Given the description of an element on the screen output the (x, y) to click on. 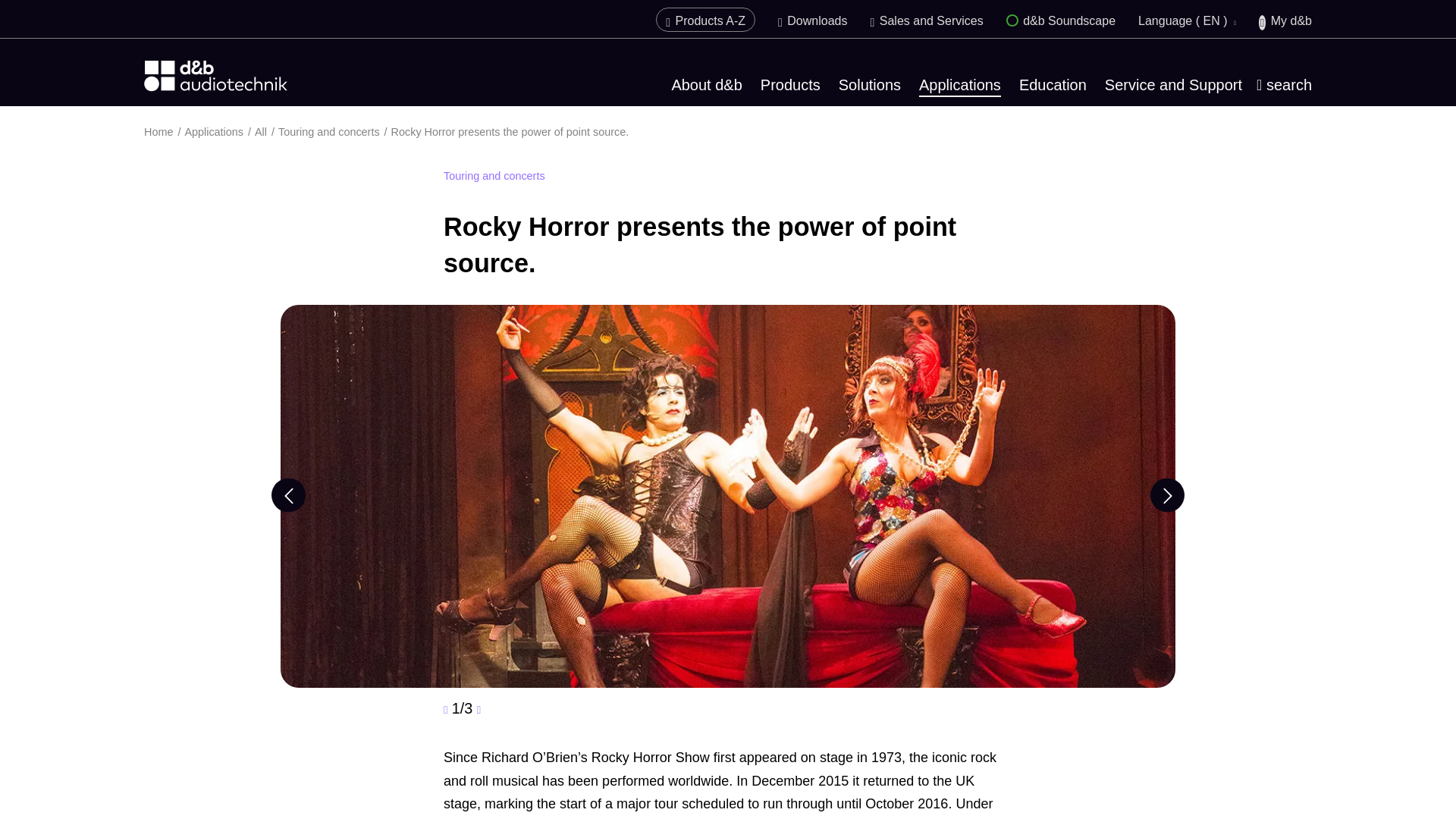
search (1283, 85)
Home (164, 131)
Education (1052, 85)
Products A-Z (705, 20)
Sales and Services (925, 20)
Applications (959, 86)
Products (790, 85)
All (266, 131)
Products A-Z (705, 20)
Service and Support (1173, 85)
